Given the description of an element on the screen output the (x, y) to click on. 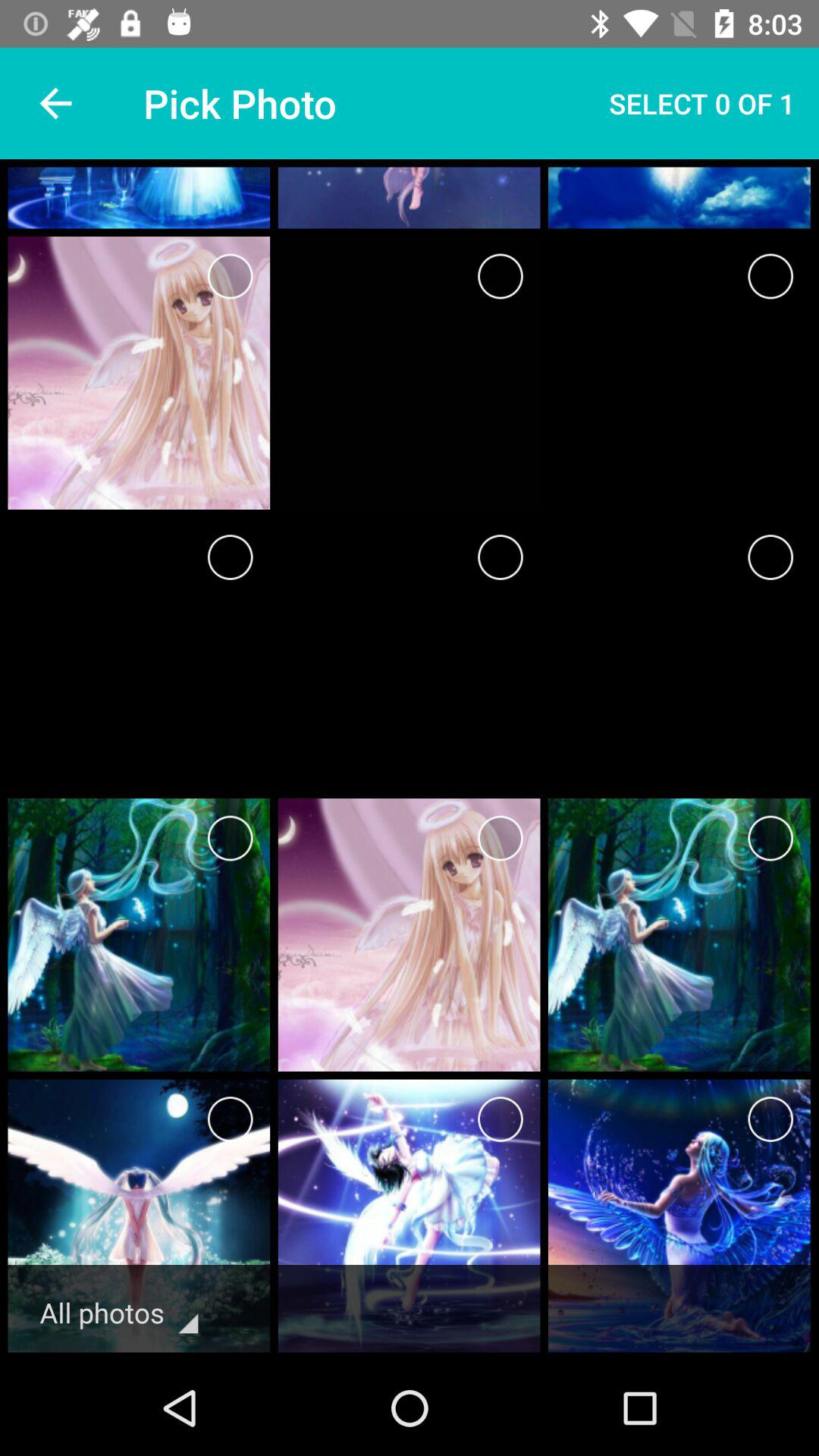
select the given image (770, 1119)
